Given the description of an element on the screen output the (x, y) to click on. 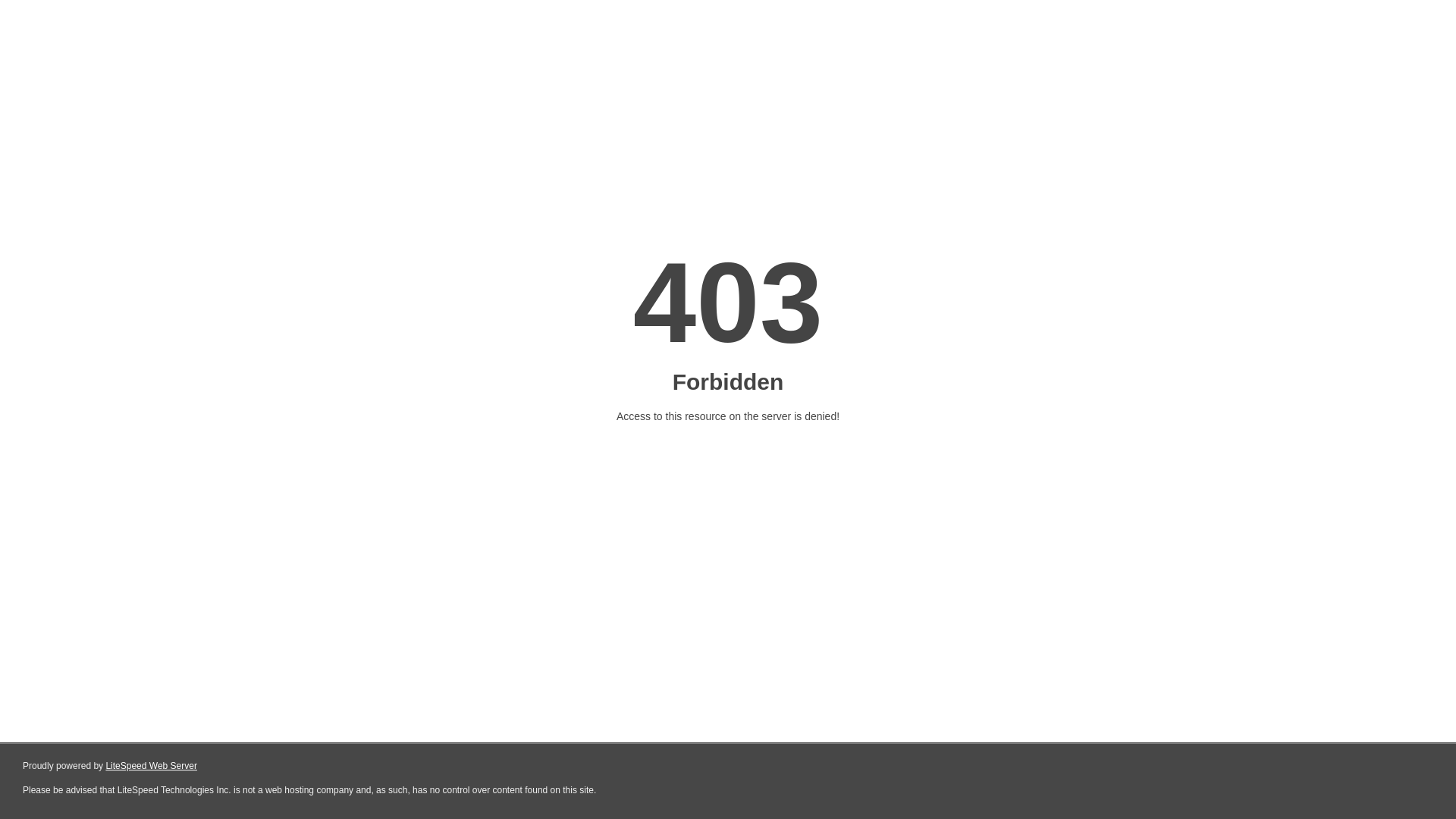
LiteSpeed Web Server Element type: text (151, 765)
